Given the description of an element on the screen output the (x, y) to click on. 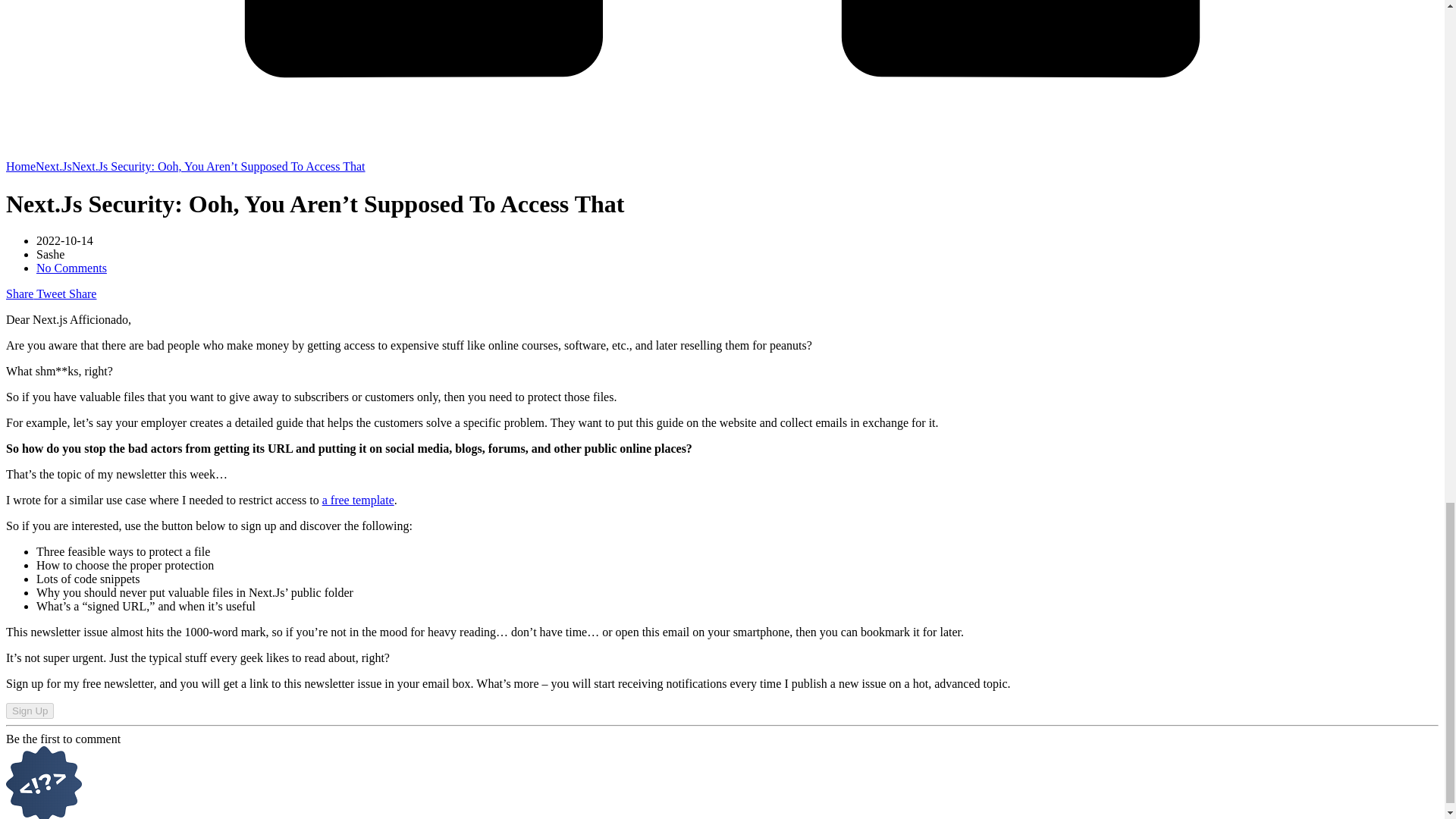
Sign Up (29, 710)
a free template (357, 499)
Share (19, 293)
Home (19, 165)
Home (19, 165)
Next.Js (52, 165)
Next.Js (52, 165)
Tweet (49, 293)
Share (80, 293)
No Comments (71, 267)
